Given the description of an element on the screen output the (x, y) to click on. 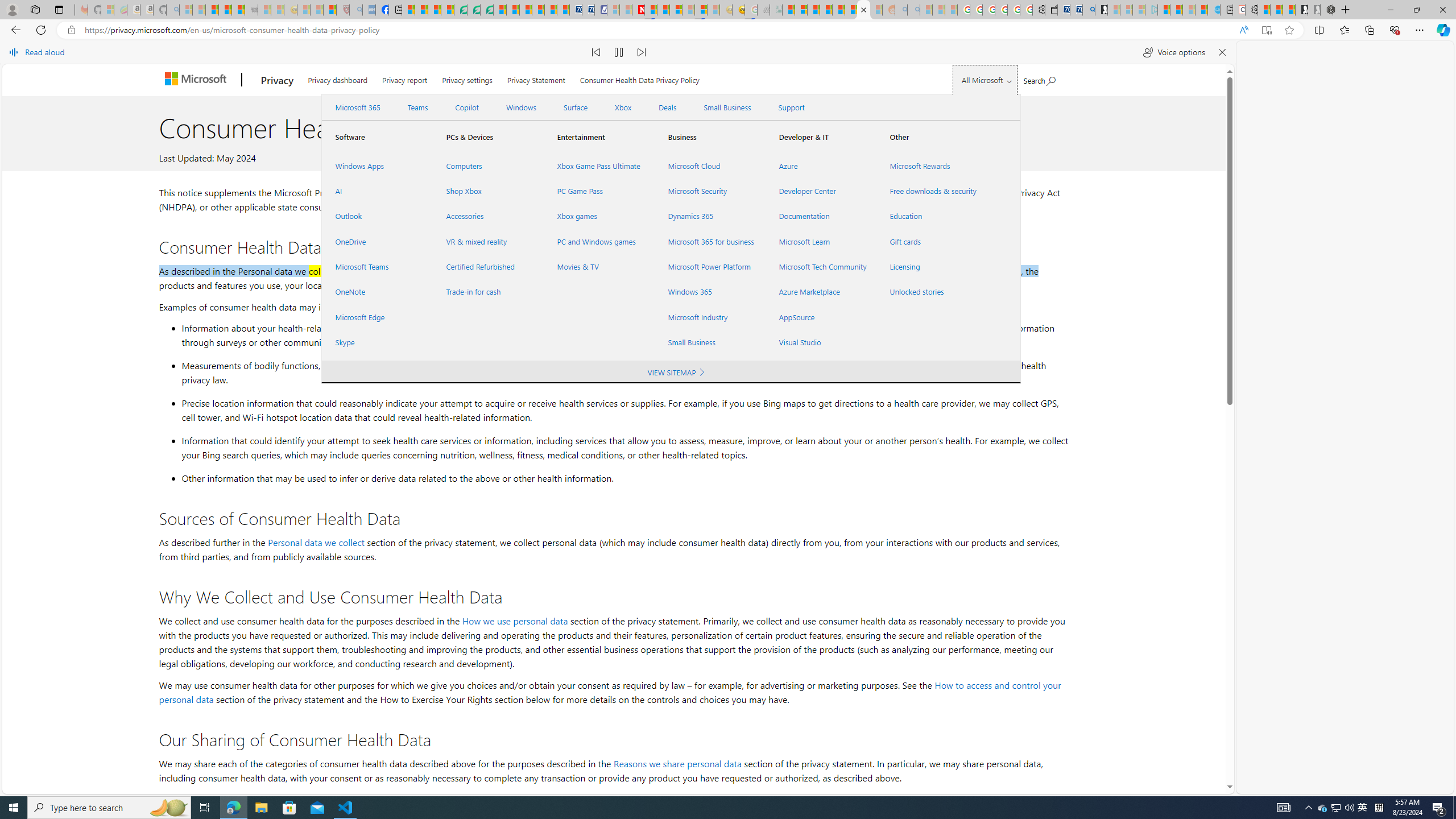
Education (931, 216)
Support (791, 107)
The Weather Channel - MSN (212, 9)
Microsoft Cloud (709, 165)
Microsoft Learn (820, 240)
Microsoft-Report a Concern to Bing - Sleeping (107, 9)
Accessories (487, 216)
Small Business (709, 342)
